Given the description of an element on the screen output the (x, y) to click on. 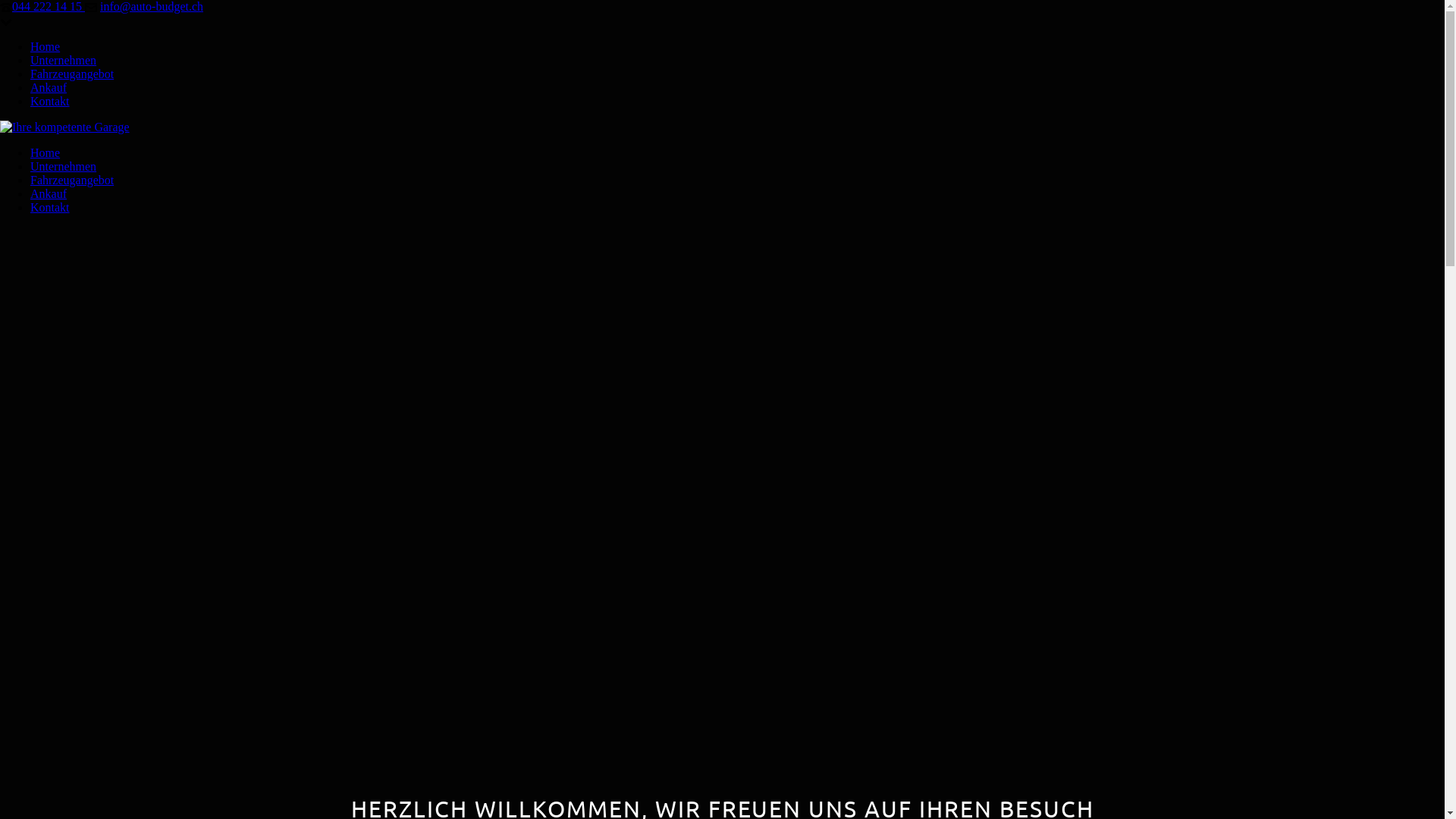
Ihre kompetente Garage Element type: hover (64, 127)
Ankauf Element type: text (48, 193)
Kontakt Element type: text (49, 206)
info@auto-budget.ch Element type: text (151, 6)
Fahrzeugangebot Element type: text (71, 73)
Ankauf Element type: text (48, 87)
Kontakt Element type: text (49, 100)
Fahrzeugangebot Element type: text (71, 179)
Unternehmen Element type: text (63, 59)
Unternehmen Element type: text (63, 166)
Home Element type: text (44, 152)
Auto Budget GmbH Element type: hover (64, 126)
044 222 14 15 Element type: text (48, 6)
Home Element type: text (44, 46)
